Given the description of an element on the screen output the (x, y) to click on. 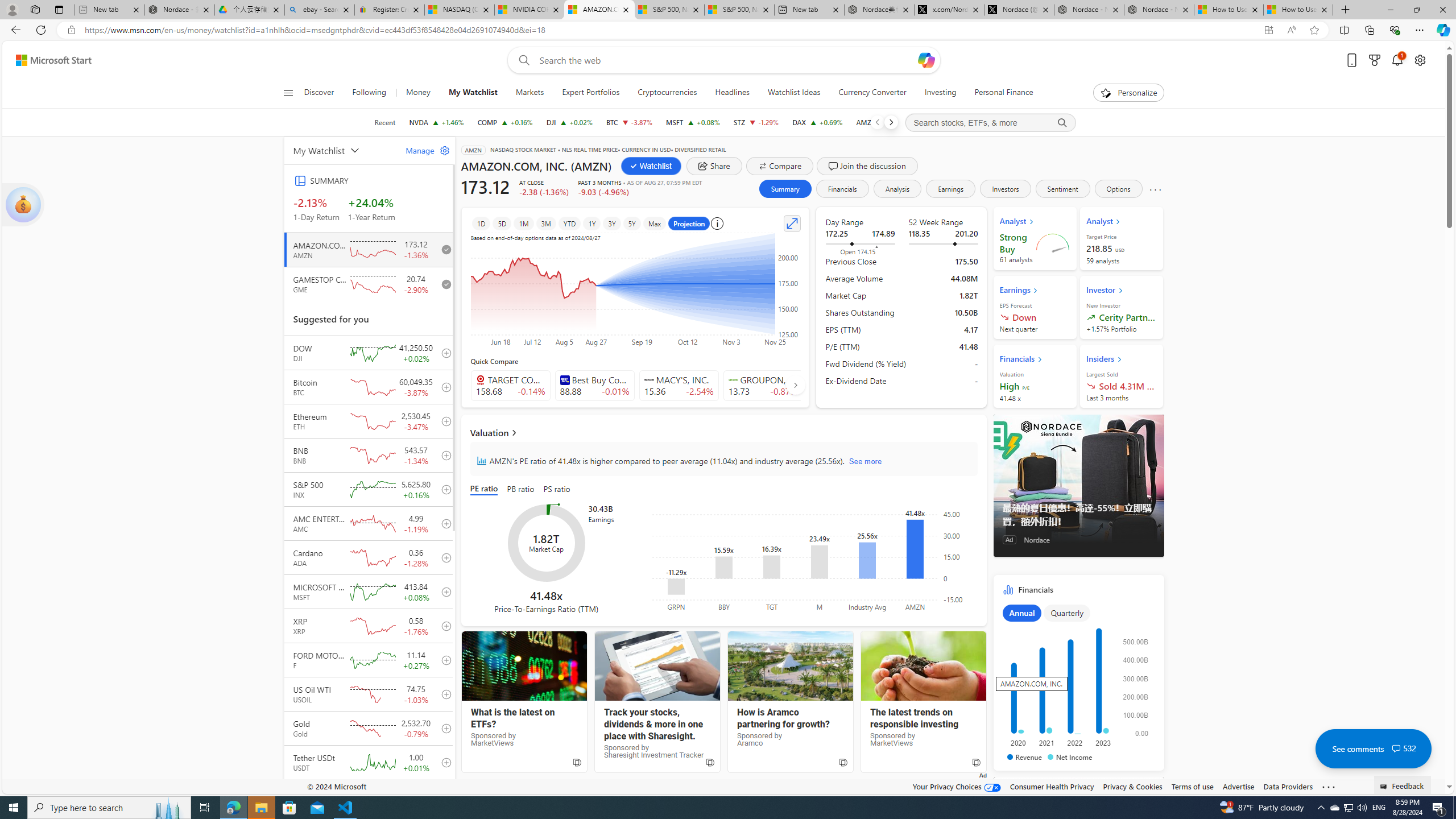
1Y (591, 223)
Headlines (732, 92)
1D (480, 223)
5D (502, 223)
show card (22, 204)
Personal Finance (999, 92)
Financials (842, 188)
Class: cwt-icon-vector (1395, 748)
How to Use a Monitor With Your Closed Laptop (1297, 9)
Sentiment (1062, 188)
Advertise (1238, 786)
MSFT MICROSOFT CORPORATION increase 413.84 +0.35 +0.08% (692, 122)
Aramco (790, 666)
